Given the description of an element on the screen output the (x, y) to click on. 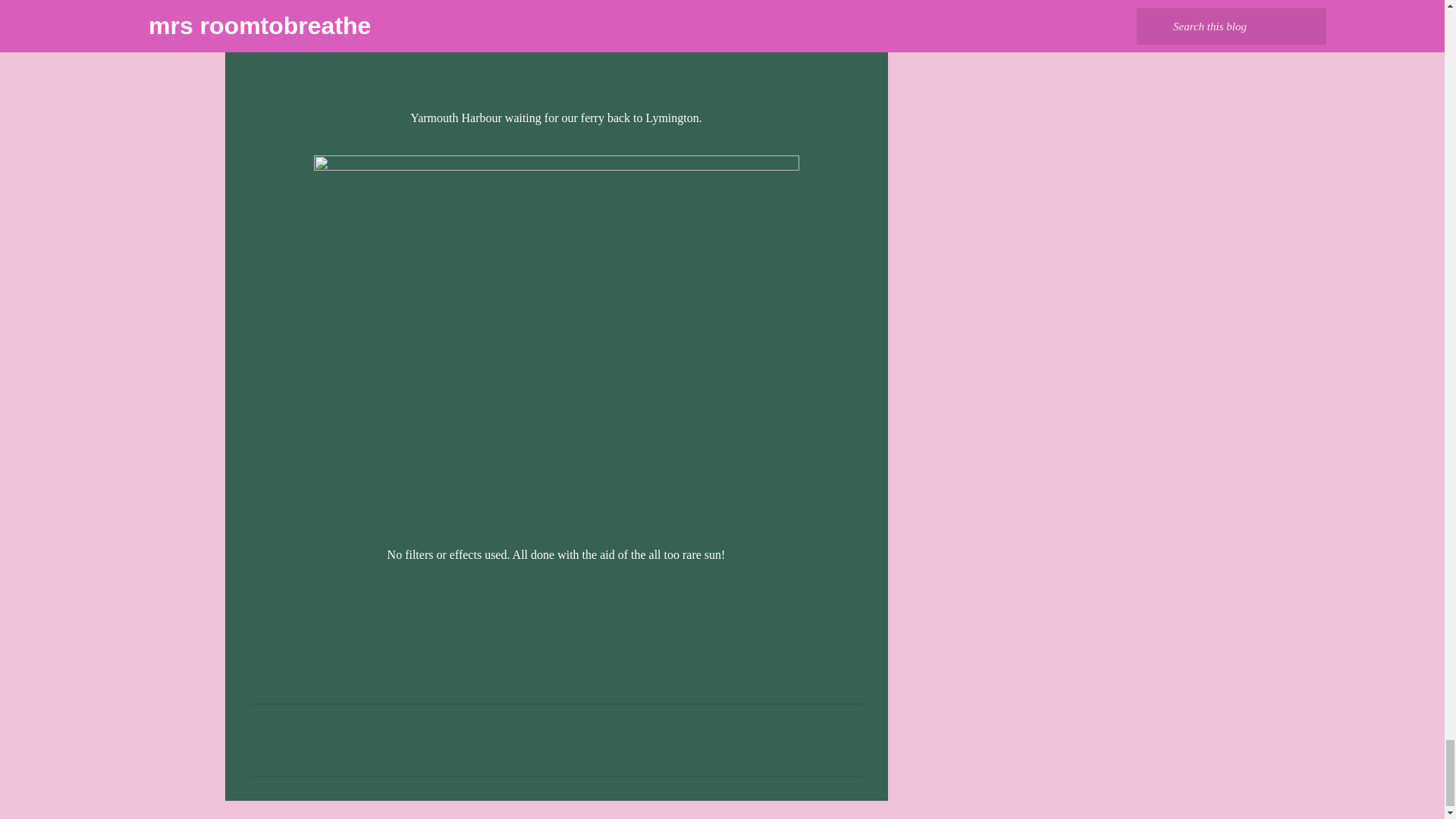
Email Post (257, 606)
